Given the description of an element on the screen output the (x, y) to click on. 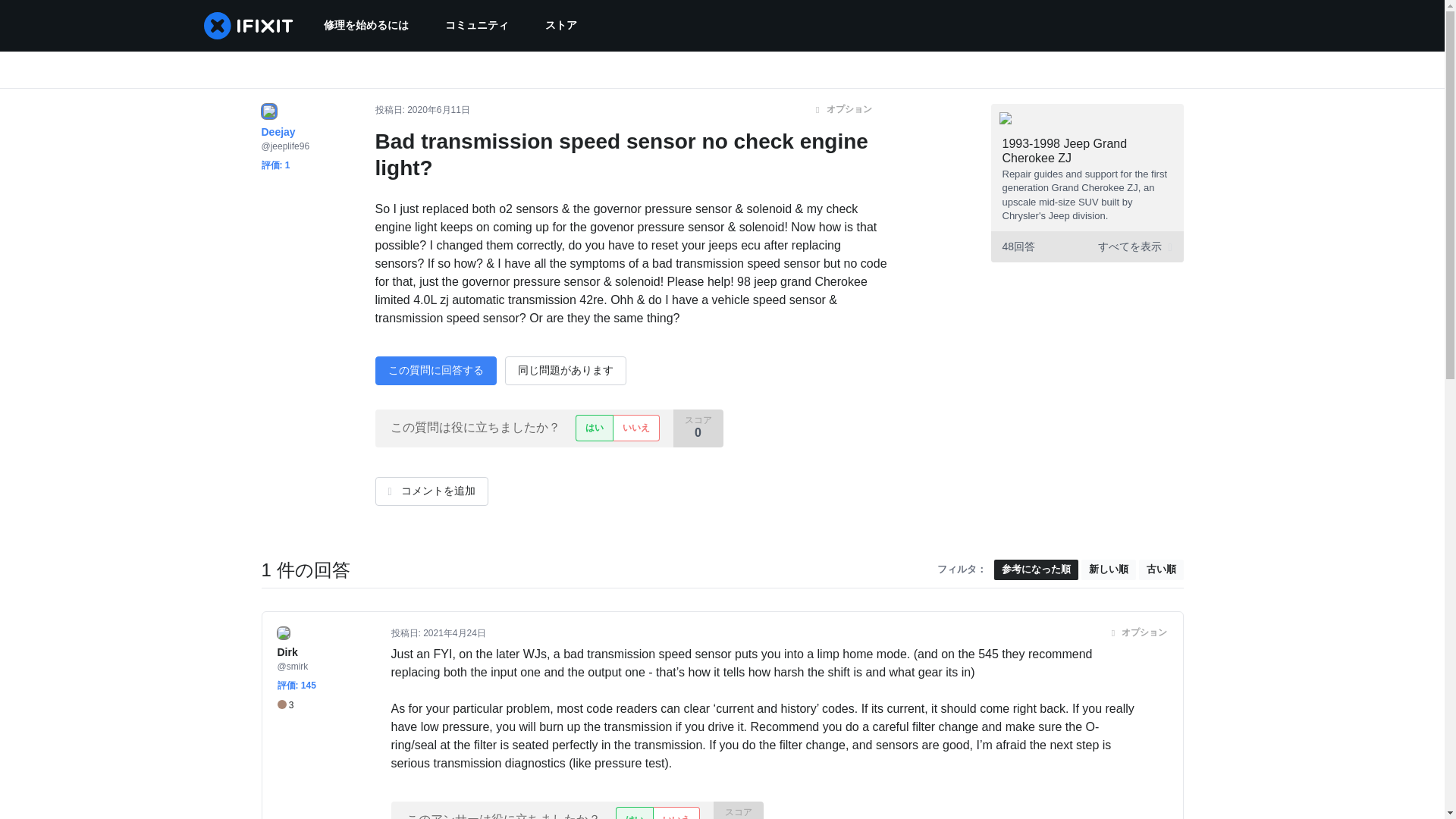
3 (286, 705)
Thu, 11 Jun 2020 01:16:29 -0700 (438, 109)
Sat, 24 Apr 2021 08:33:51 -0700 (454, 633)
1993-1998 Jeep Grand Cherokee ZJ (1064, 150)
